Given the description of an element on the screen output the (x, y) to click on. 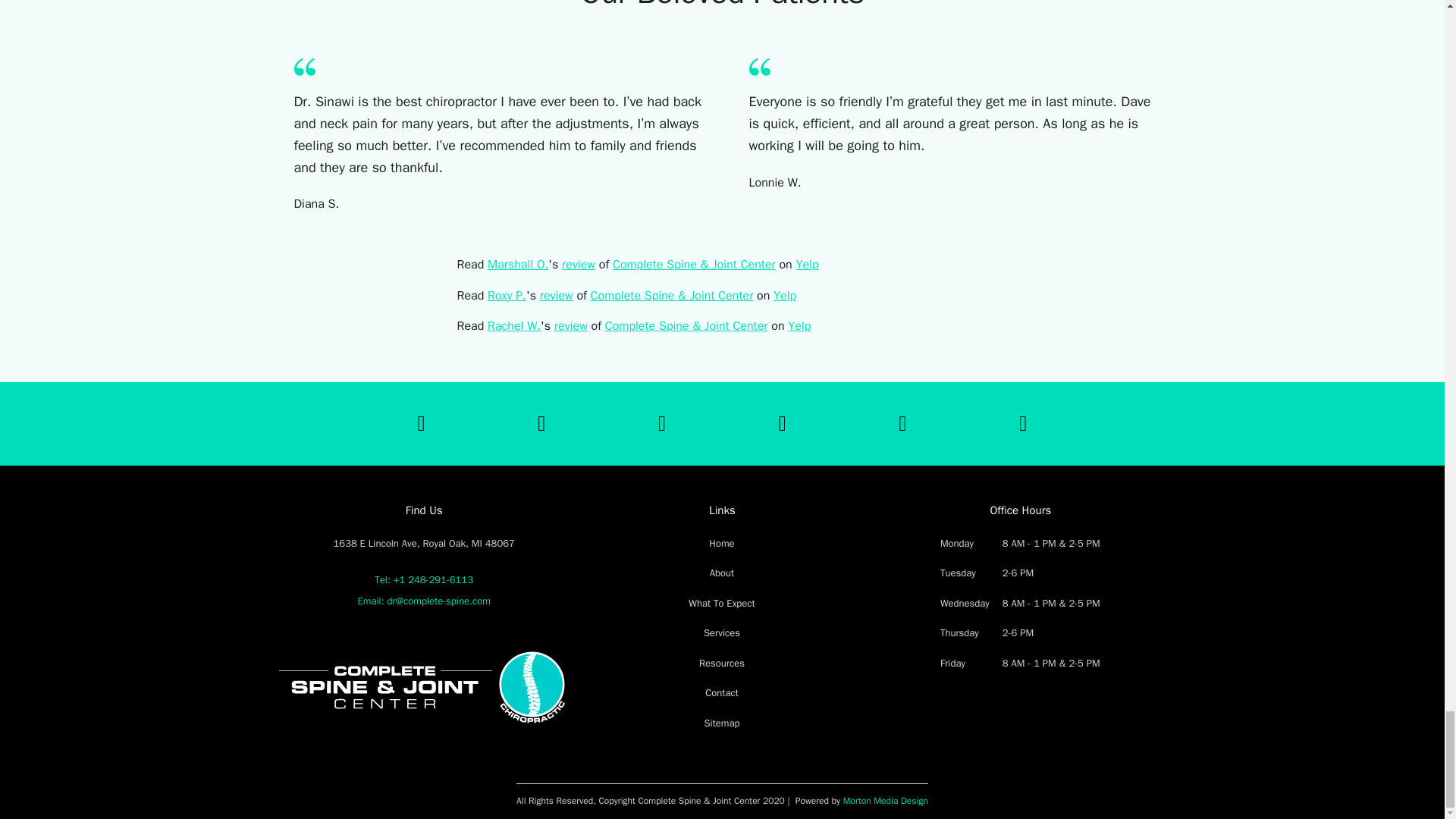
Marshall O. (517, 264)
Yelp (807, 264)
review (556, 294)
Roxy P. (506, 294)
Yelp (784, 294)
review (571, 325)
review (578, 264)
Rachel W. (513, 325)
